Given the description of an element on the screen output the (x, y) to click on. 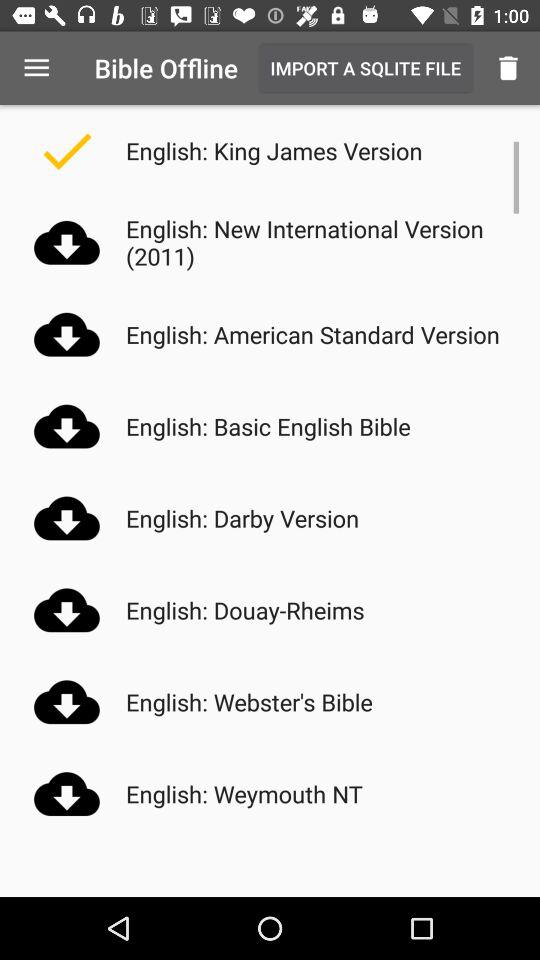
scroll until the import a sqlite icon (365, 67)
